Given the description of an element on the screen output the (x, y) to click on. 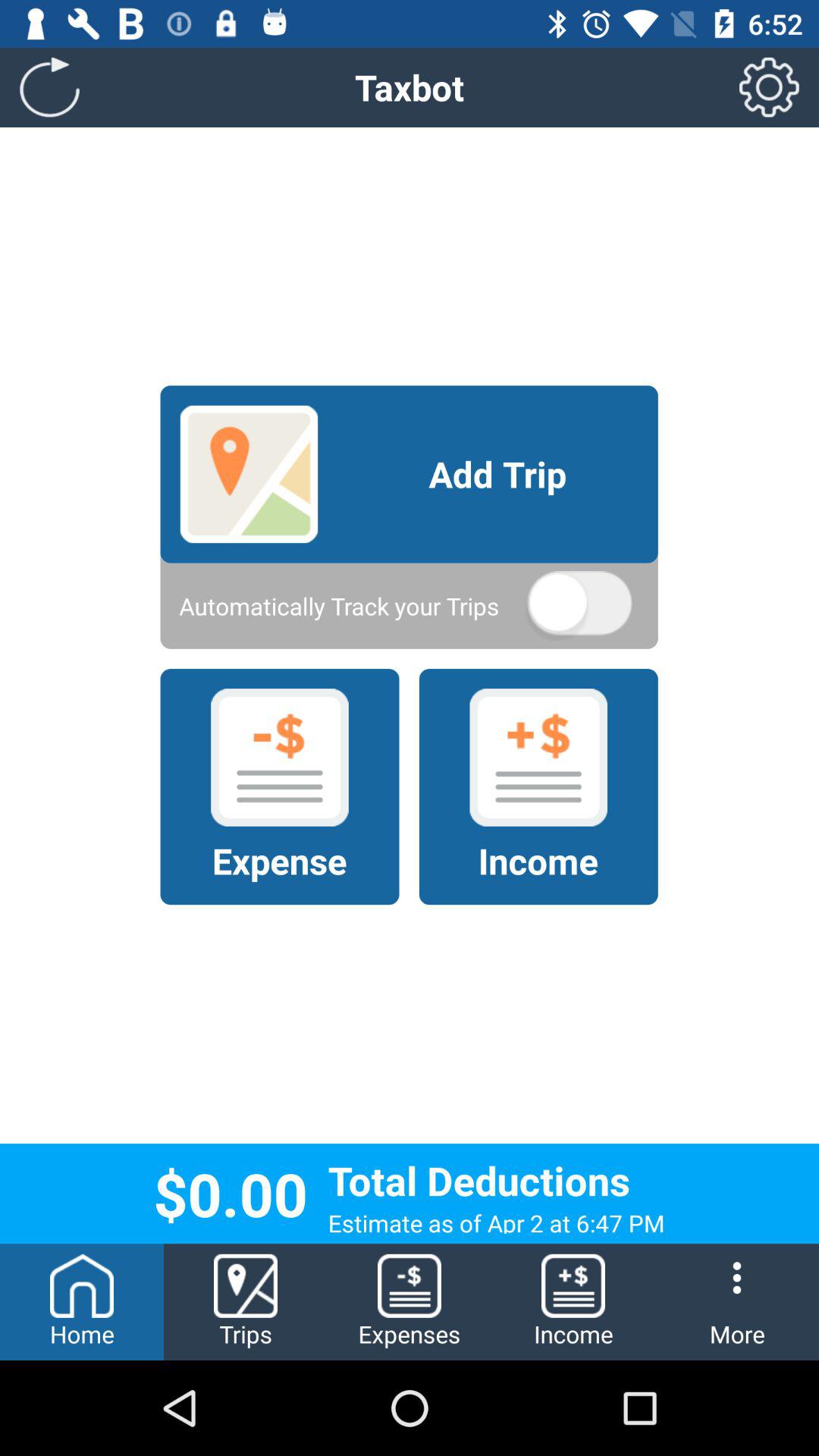
turn off the icon below add trip (578, 605)
